Given the description of an element on the screen output the (x, y) to click on. 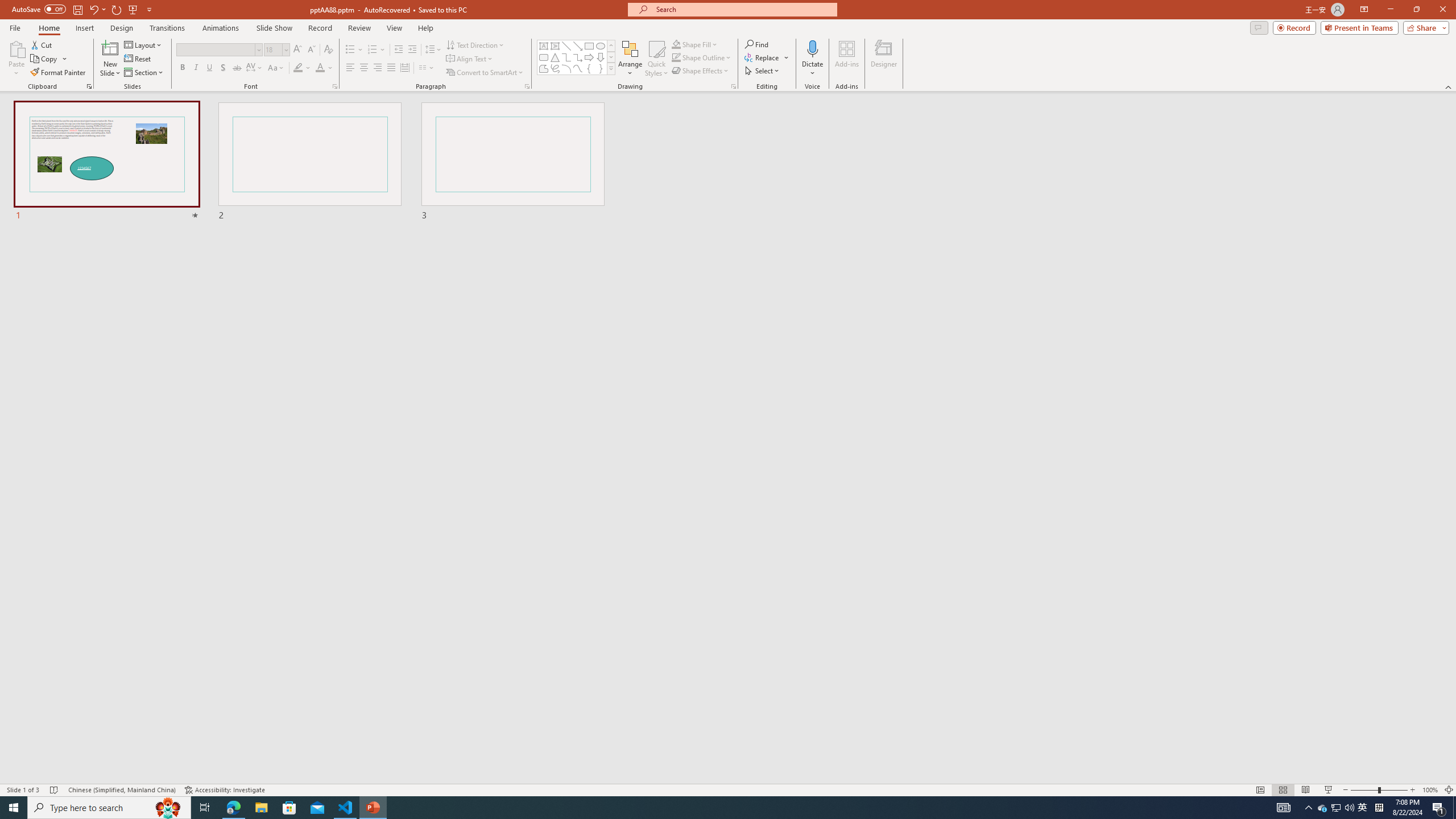
Change Case (276, 67)
Vertical Text Box (554, 45)
Designer (883, 58)
AutomationID: ShapesInsertGallery (576, 57)
Text Highlight Color (302, 67)
Shape Fill Aqua, Accent 2 (675, 44)
Decrease Font Size (310, 49)
Slide (513, 161)
Freeform: Scribble (554, 68)
Shape Outline Teal, Accent 1 (675, 56)
Connector: Elbow (566, 57)
Dictate (812, 48)
